Given the description of an element on the screen output the (x, y) to click on. 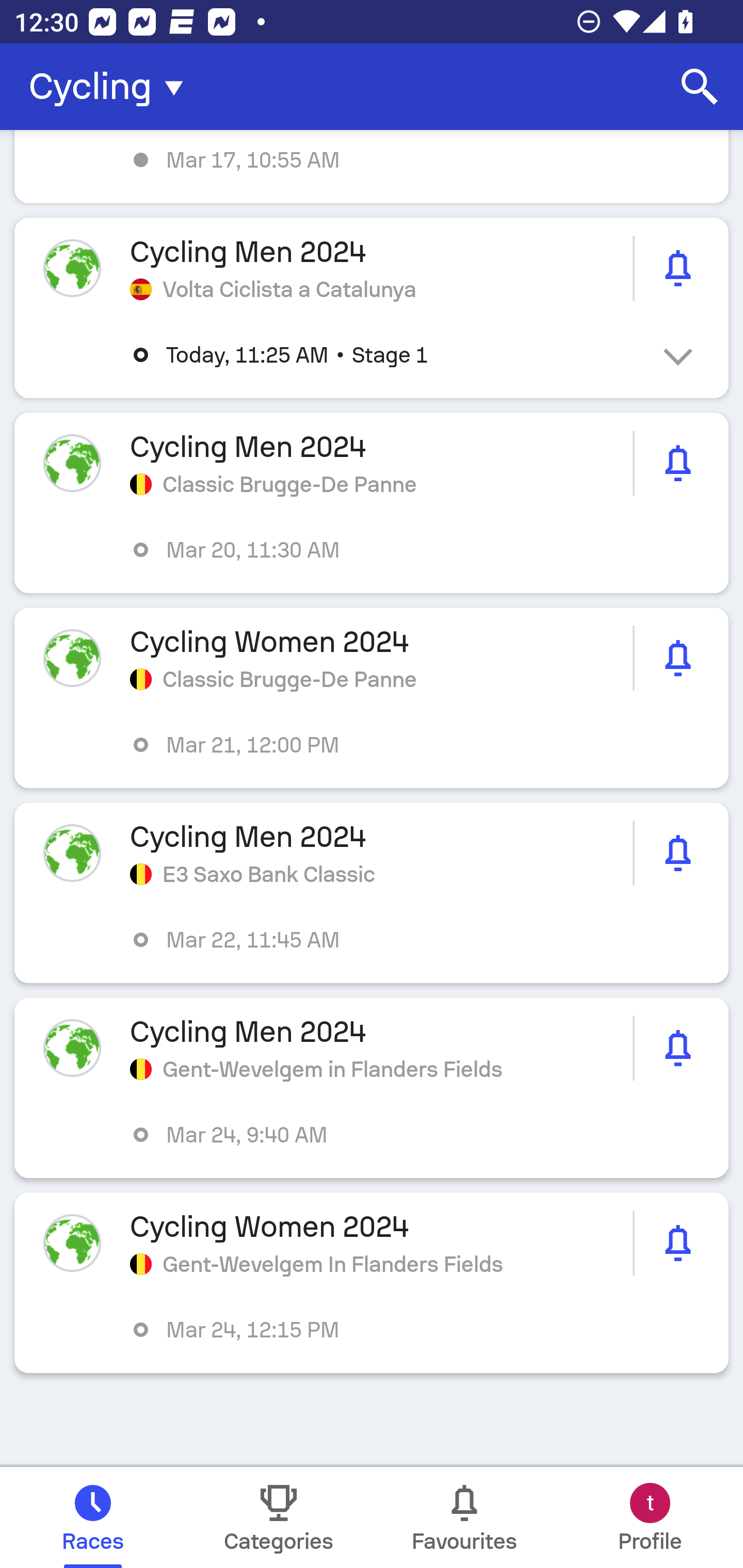
Cycling (111, 86)
Search (699, 86)
Mar 17, 10:55 AM (371, 166)
Today, 11:25 AM • Stage 1 (385, 355)
Categories (278, 1517)
Favourites (464, 1517)
Profile (650, 1517)
